Given the description of an element on the screen output the (x, y) to click on. 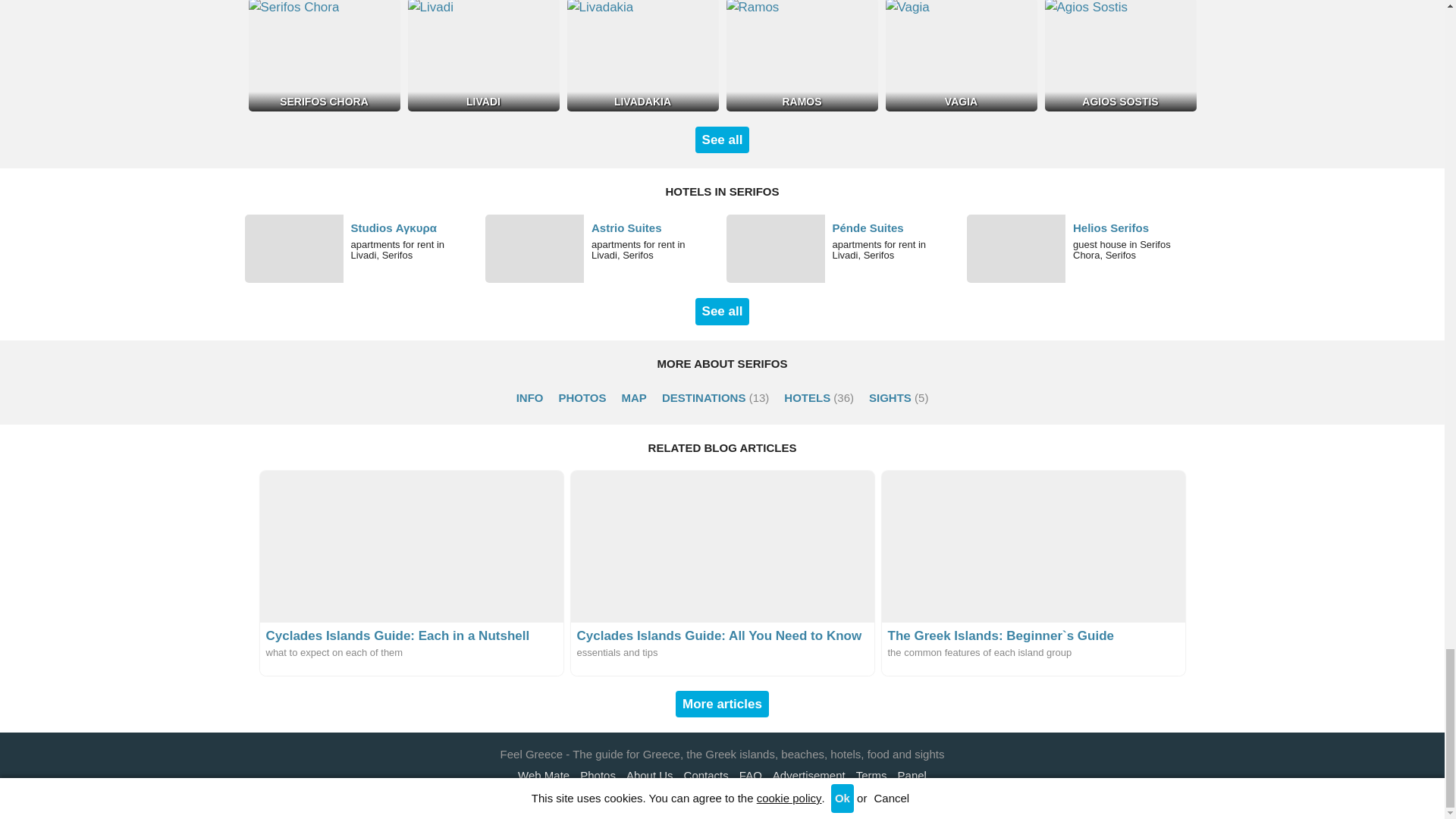
Ramos (801, 55)
Serifos Chora (324, 55)
Livadakia (643, 55)
apartments for rent in Livadi (601, 248)
apartments for rent in Livadi (842, 248)
apartments for rent in Livadi (360, 248)
Agios Sostis (1120, 55)
Vagia (960, 55)
guest house in Serifos Chora (1082, 248)
Livadi (483, 55)
